Given the description of an element on the screen output the (x, y) to click on. 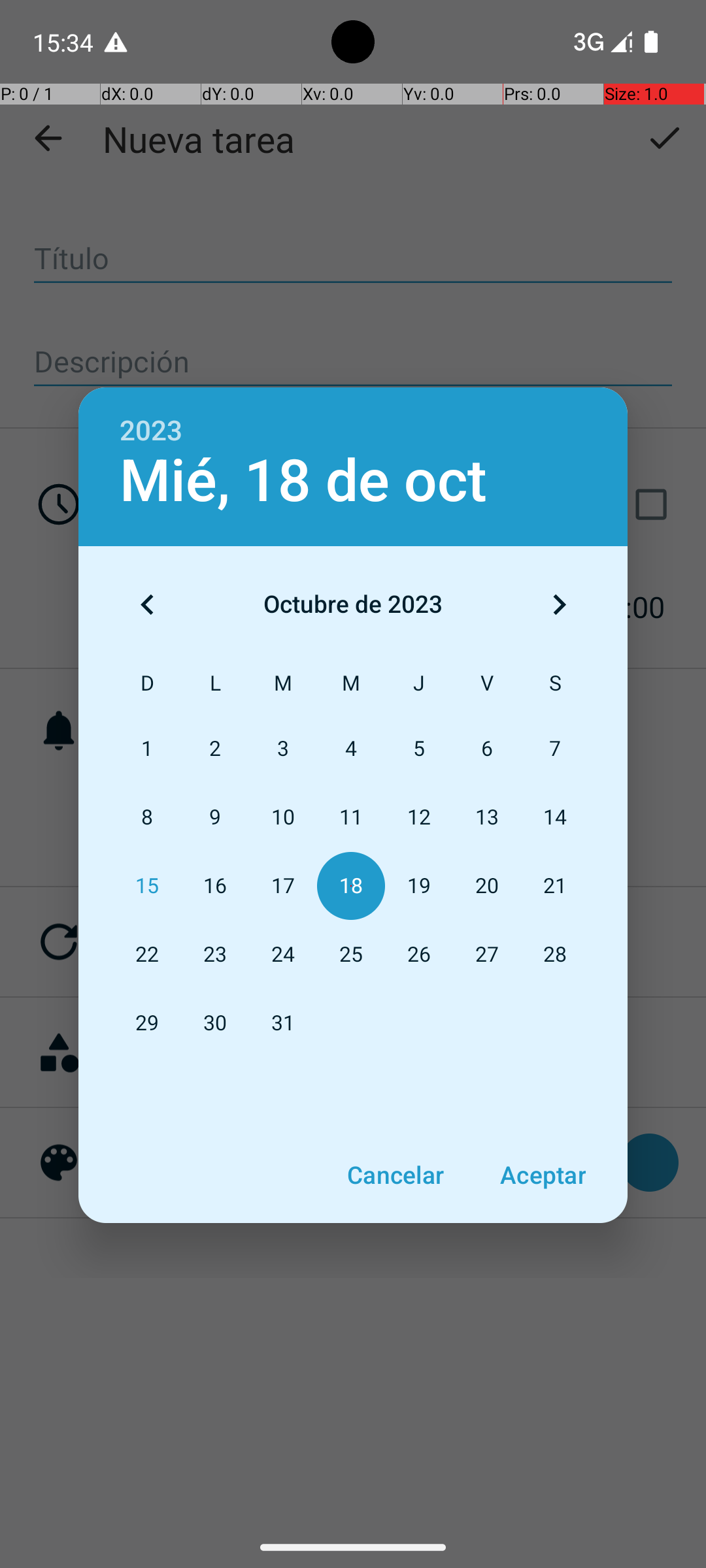
Mié, 18 de oct Element type: android.widget.TextView (303, 480)
Mes anterior Element type: android.widget.ImageButton (146, 604)
Mes siguiente Element type: android.widget.ImageButton (558, 604)
Cancelar Element type: android.widget.Button (394, 1174)
Aceptar Element type: android.widget.Button (542, 1174)
